Given the description of an element on the screen output the (x, y) to click on. 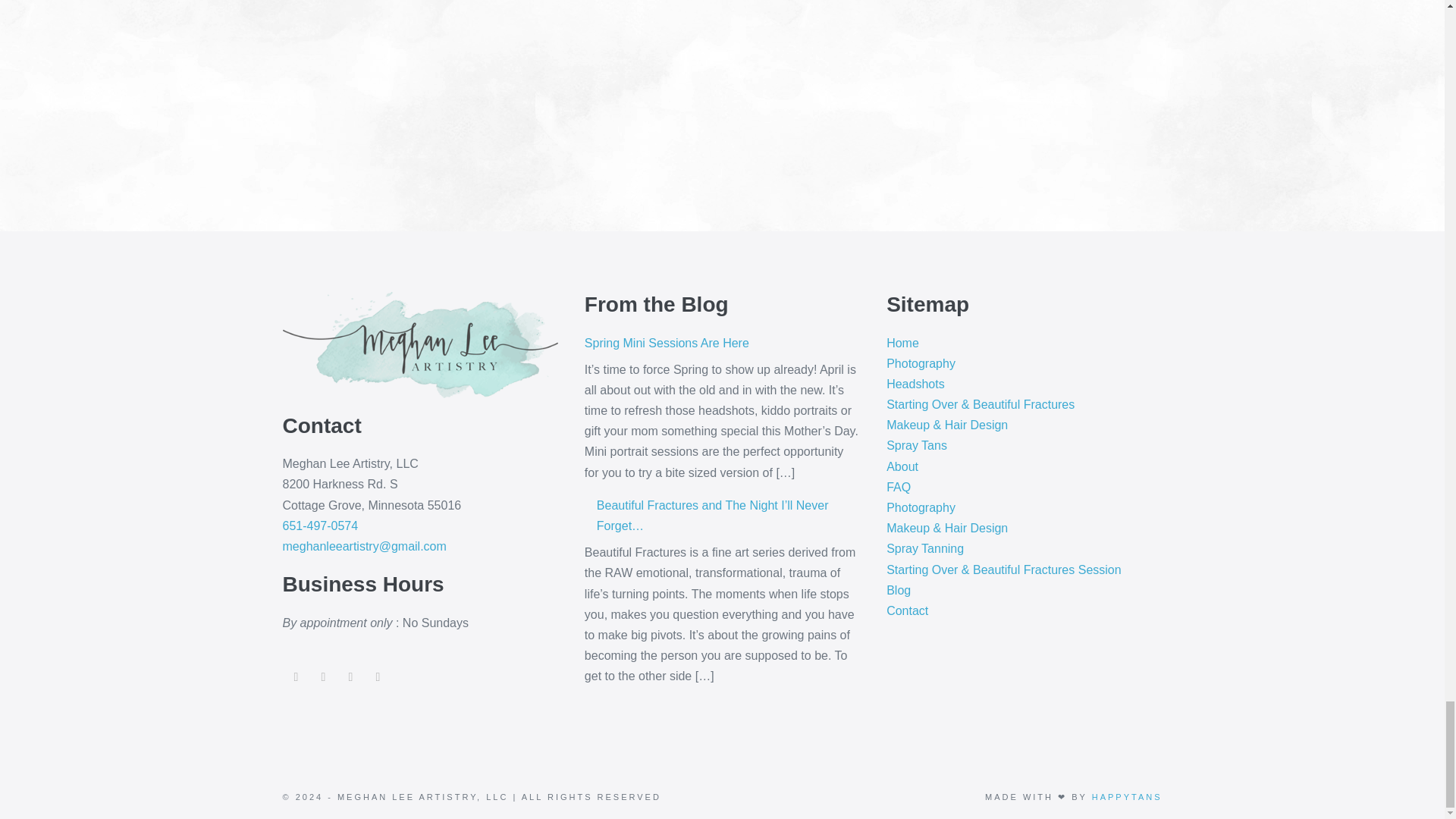
Pinterest (323, 676)
Facebook (296, 676)
LinkedIn (378, 676)
Instagram (350, 676)
